Given the description of an element on the screen output the (x, y) to click on. 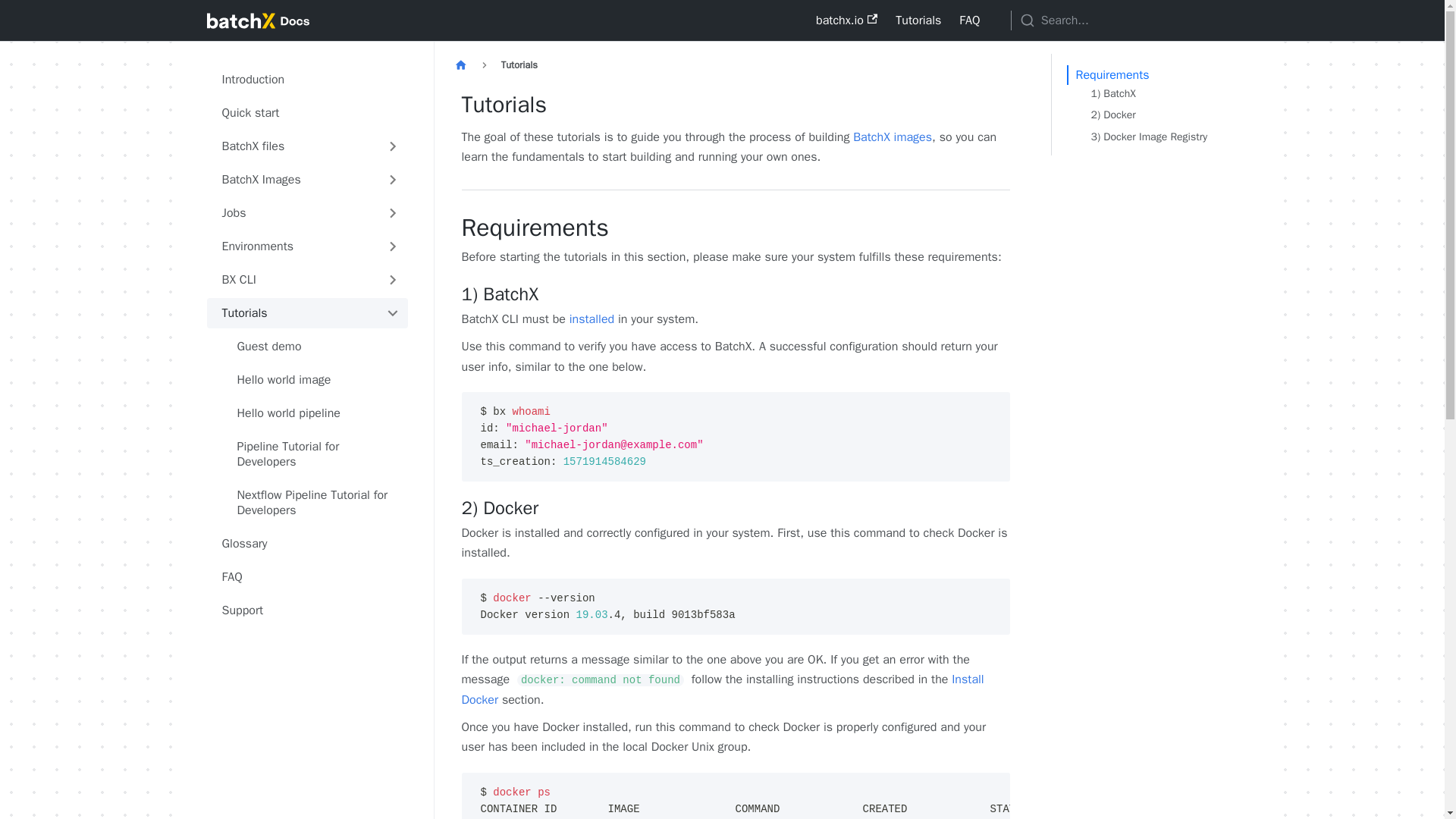
Search... (1123, 20)
BX CLI (291, 279)
Hello world pipeline (314, 413)
Jobs (291, 213)
Support (306, 610)
installed (591, 319)
BatchX files (291, 146)
FAQ (969, 20)
Tutorials (291, 313)
Hello world image (314, 379)
Guest demo (314, 346)
Nextflow Pipeline Tutorial for Developers (314, 502)
Introduction (306, 79)
batchx.io (846, 20)
Tutorials (918, 20)
